Given the description of an element on the screen output the (x, y) to click on. 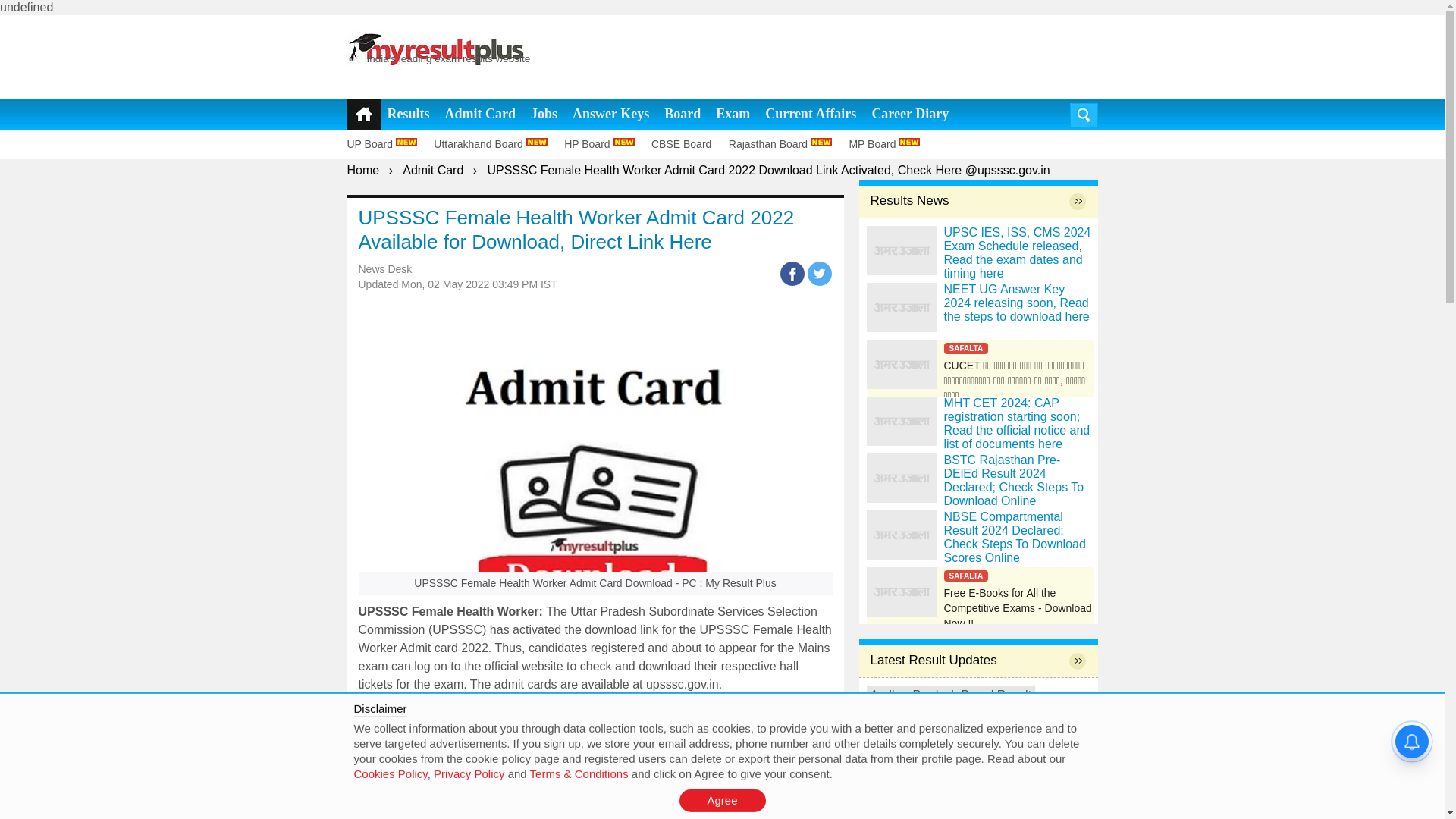
Career Diary (909, 113)
Jobs (543, 113)
Results (407, 113)
Exam (732, 113)
Home (363, 170)
CBSE Board (687, 143)
Free E-Books for All the Competitive Exams - Download Now !! (979, 591)
MP Board (890, 143)
UP Board (388, 143)
Admit Card (433, 170)
Admit Card (480, 113)
